Given the description of an element on the screen output the (x, y) to click on. 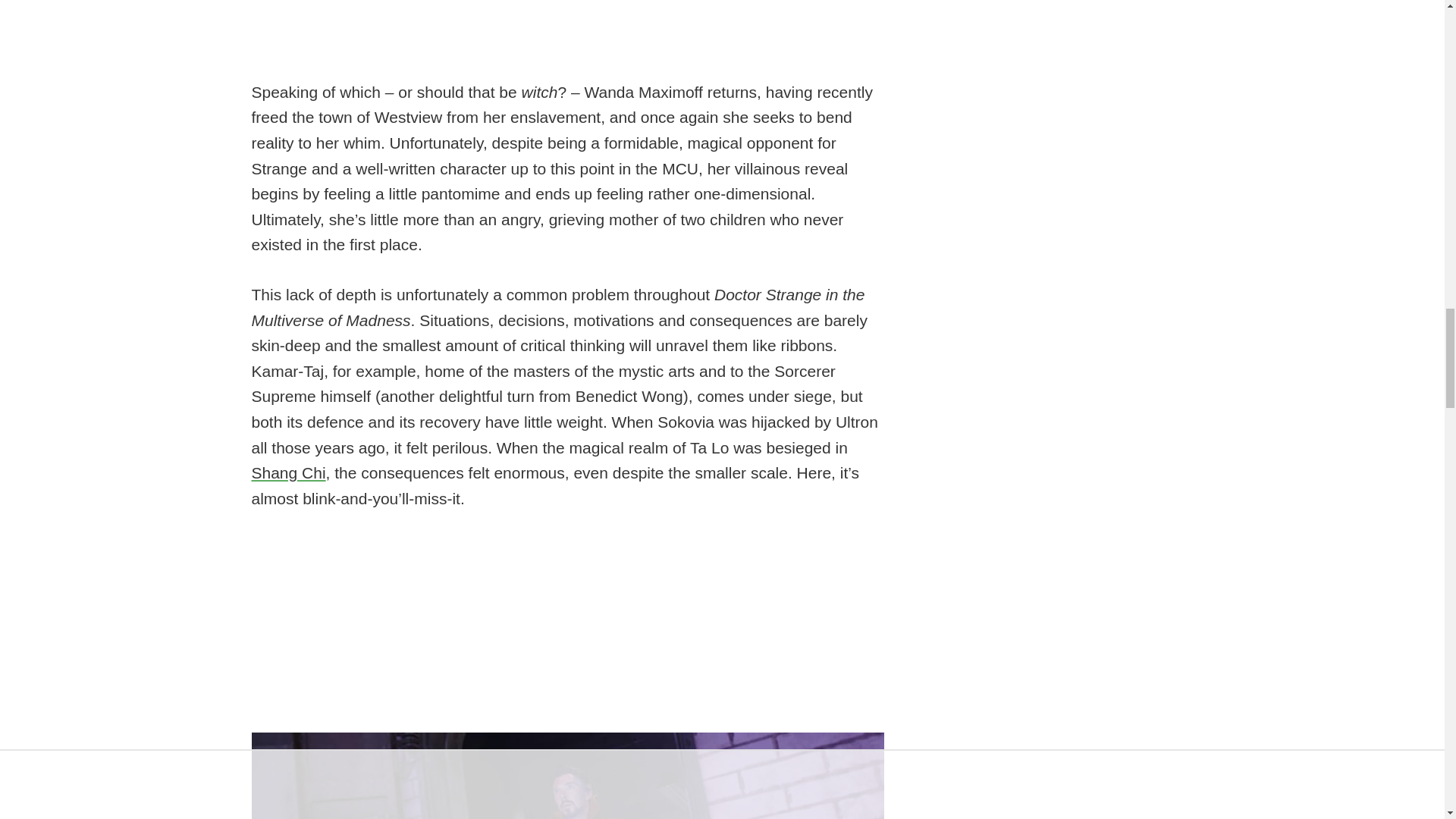
Shang Chi (288, 472)
